Given the description of an element on the screen output the (x, y) to click on. 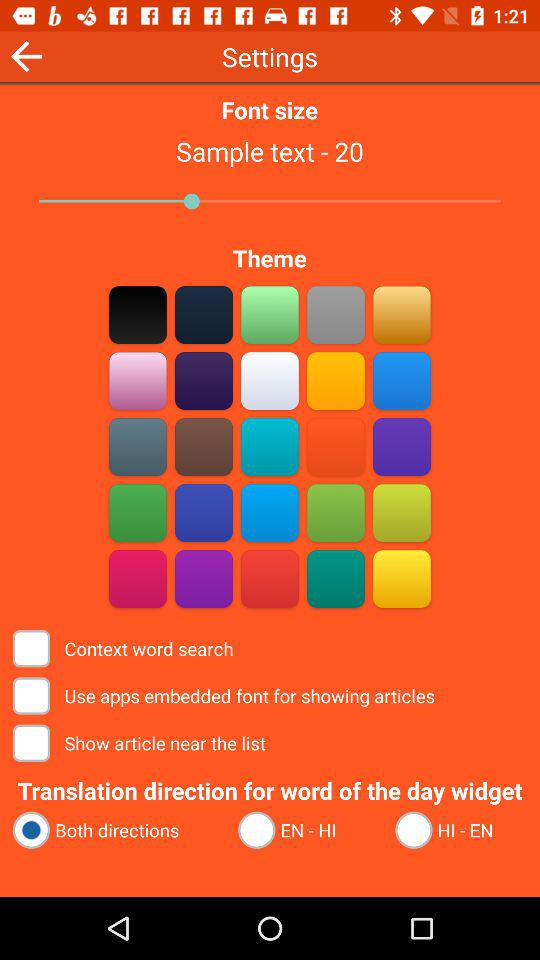
medium green (335, 512)
